Given the description of an element on the screen output the (x, y) to click on. 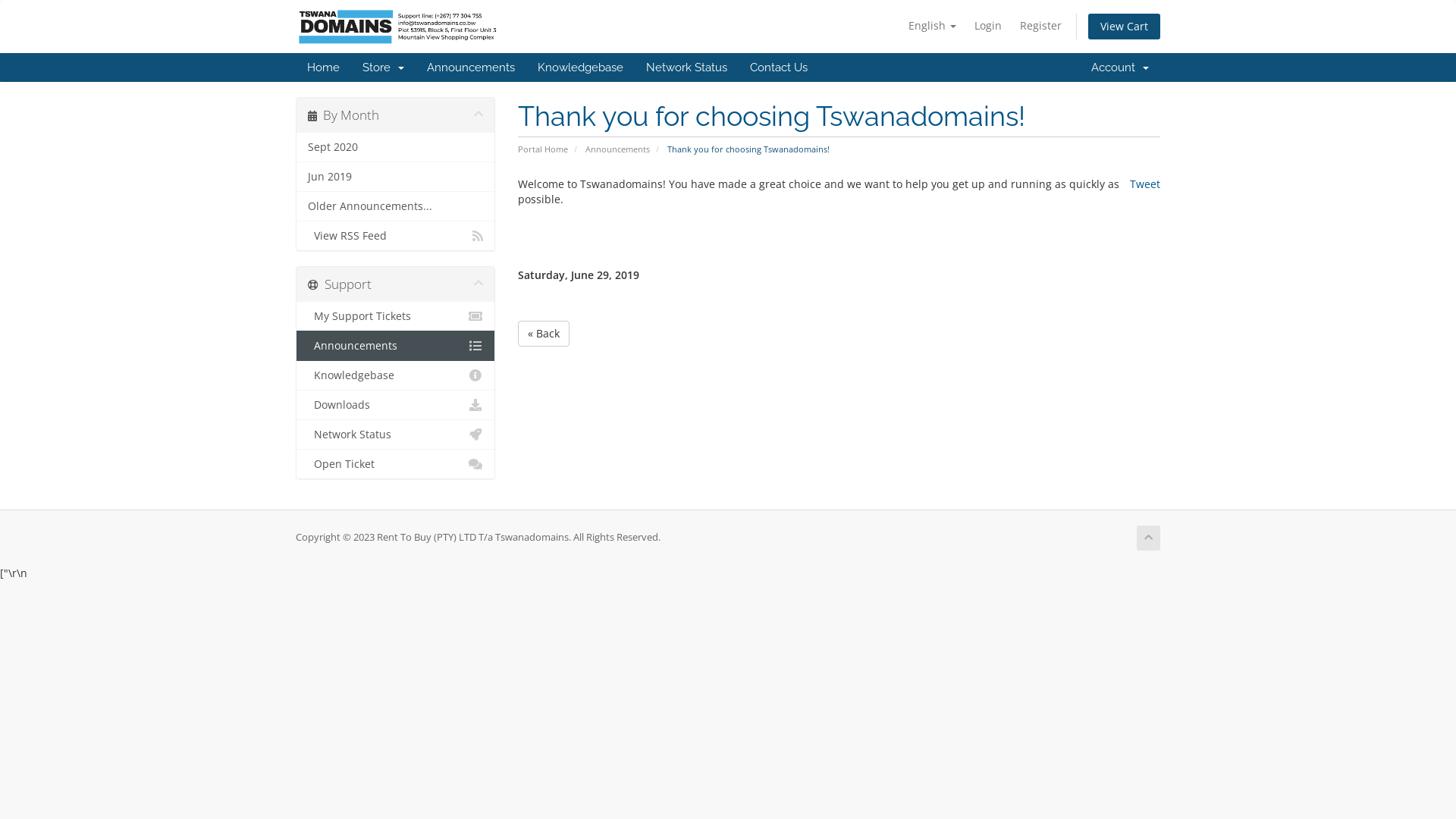
  Open Ticket Element type: text (395, 463)
Home Element type: text (323, 67)
Store   Element type: text (383, 67)
English Element type: text (931, 25)
View Cart Element type: text (1124, 26)
  My Support Tickets Element type: text (395, 316)
  Announcements Element type: text (395, 345)
Knowledgebase Element type: text (580, 67)
Announcements Element type: text (470, 67)
Jun 2019 Element type: text (395, 176)
Announcements Element type: text (617, 148)
  Network Status Element type: text (395, 434)
Tweet Element type: text (1144, 183)
Register Element type: text (1040, 25)
Older Announcements... Element type: text (395, 206)
  Downloads Element type: text (395, 404)
Account   Element type: text (1119, 67)
Contact Us Element type: text (778, 67)
Login Element type: text (987, 25)
Sept 2020 Element type: text (395, 147)
Network Status Element type: text (686, 67)
Portal Home Element type: text (542, 148)
  View RSS Feed Element type: text (395, 235)
  Knowledgebase Element type: text (395, 375)
